Given the description of an element on the screen output the (x, y) to click on. 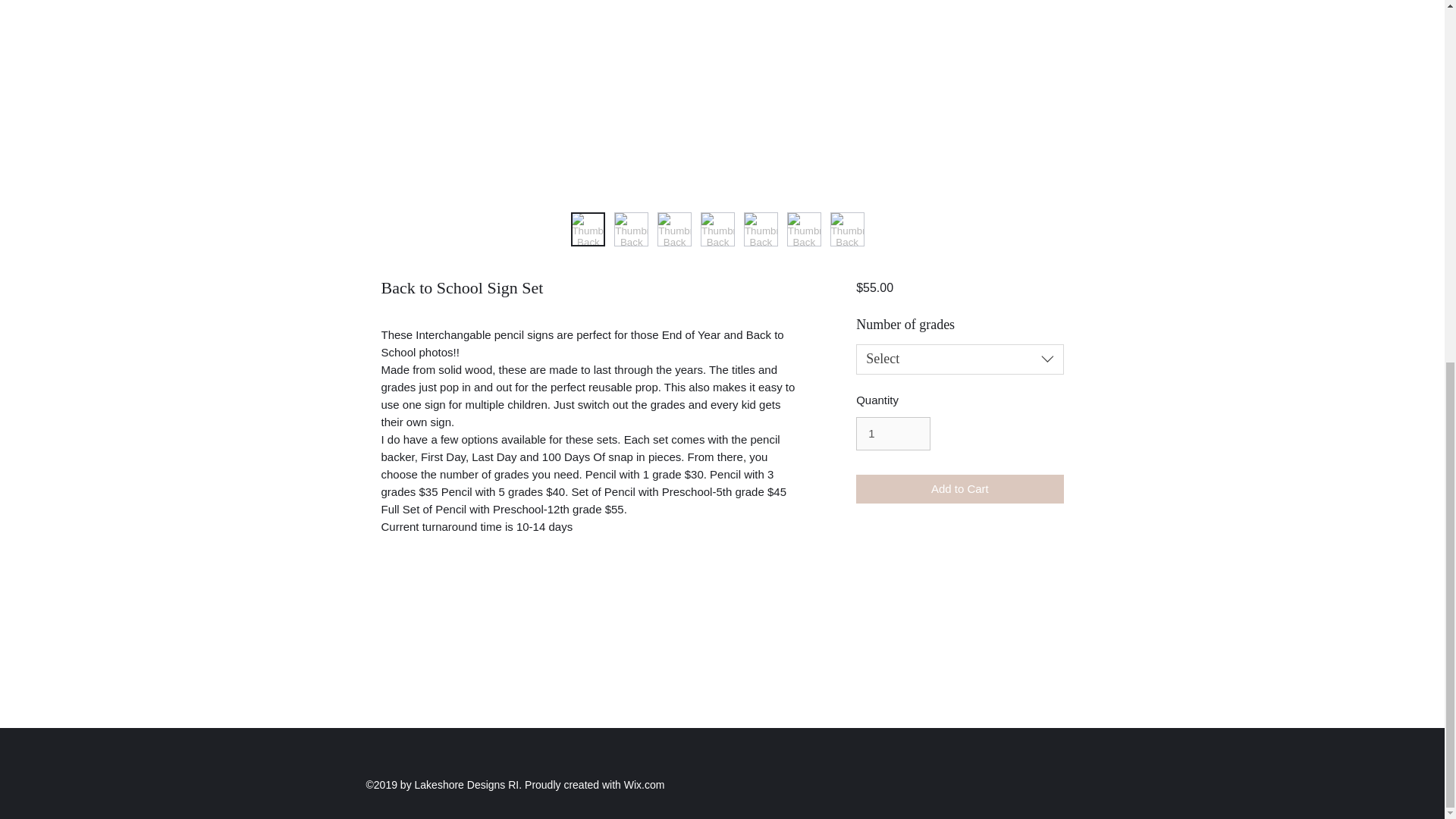
1 (893, 433)
Add to Cart (959, 489)
Select (959, 358)
